Given the description of an element on the screen output the (x, y) to click on. 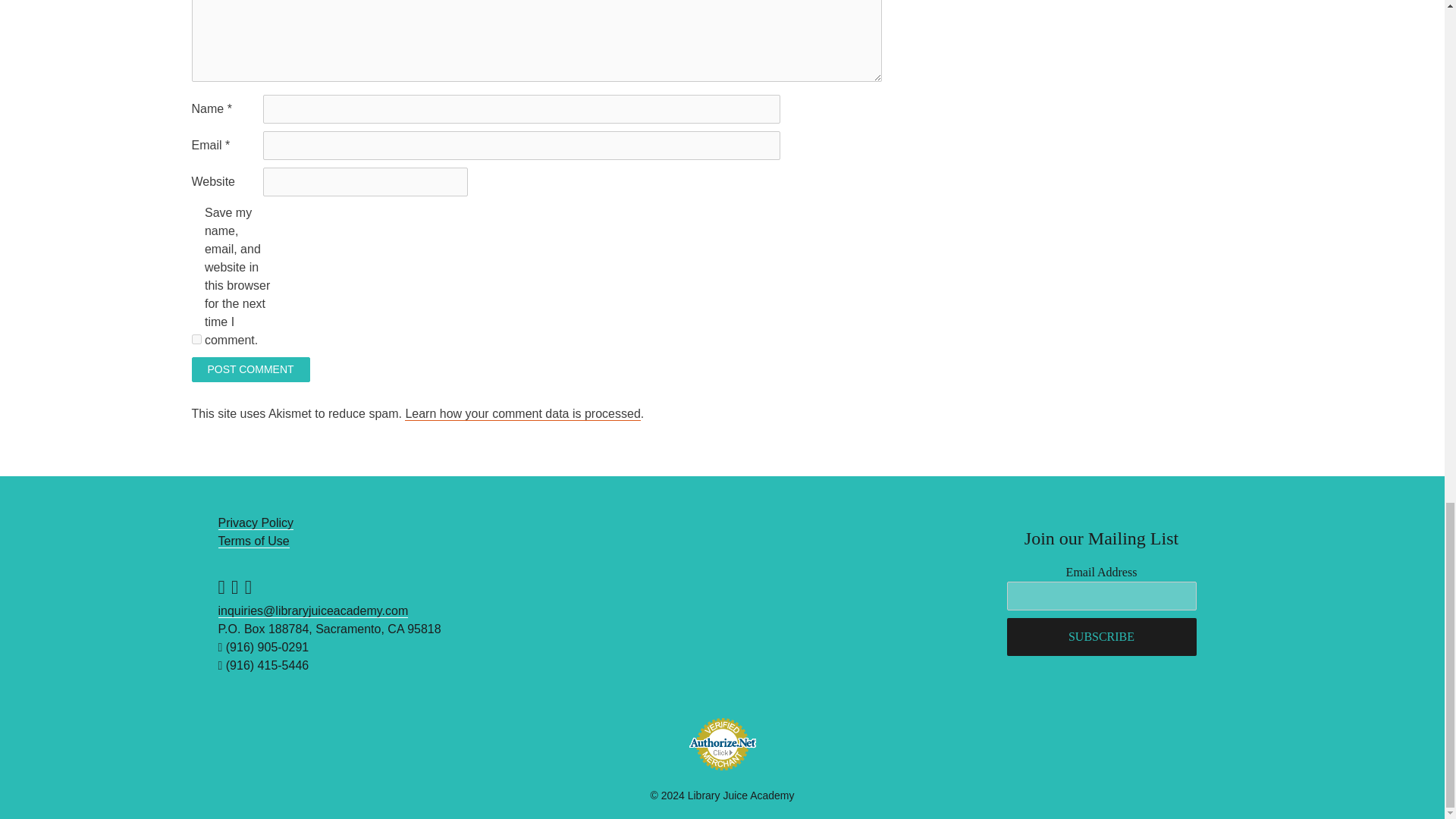
Post Comment (249, 369)
twitter (234, 587)
yes (195, 338)
facebook (221, 587)
Learn how your comment data is processed (522, 413)
Subscribe (1101, 637)
linked in (247, 587)
Post Comment (249, 369)
